Given the description of an element on the screen output the (x, y) to click on. 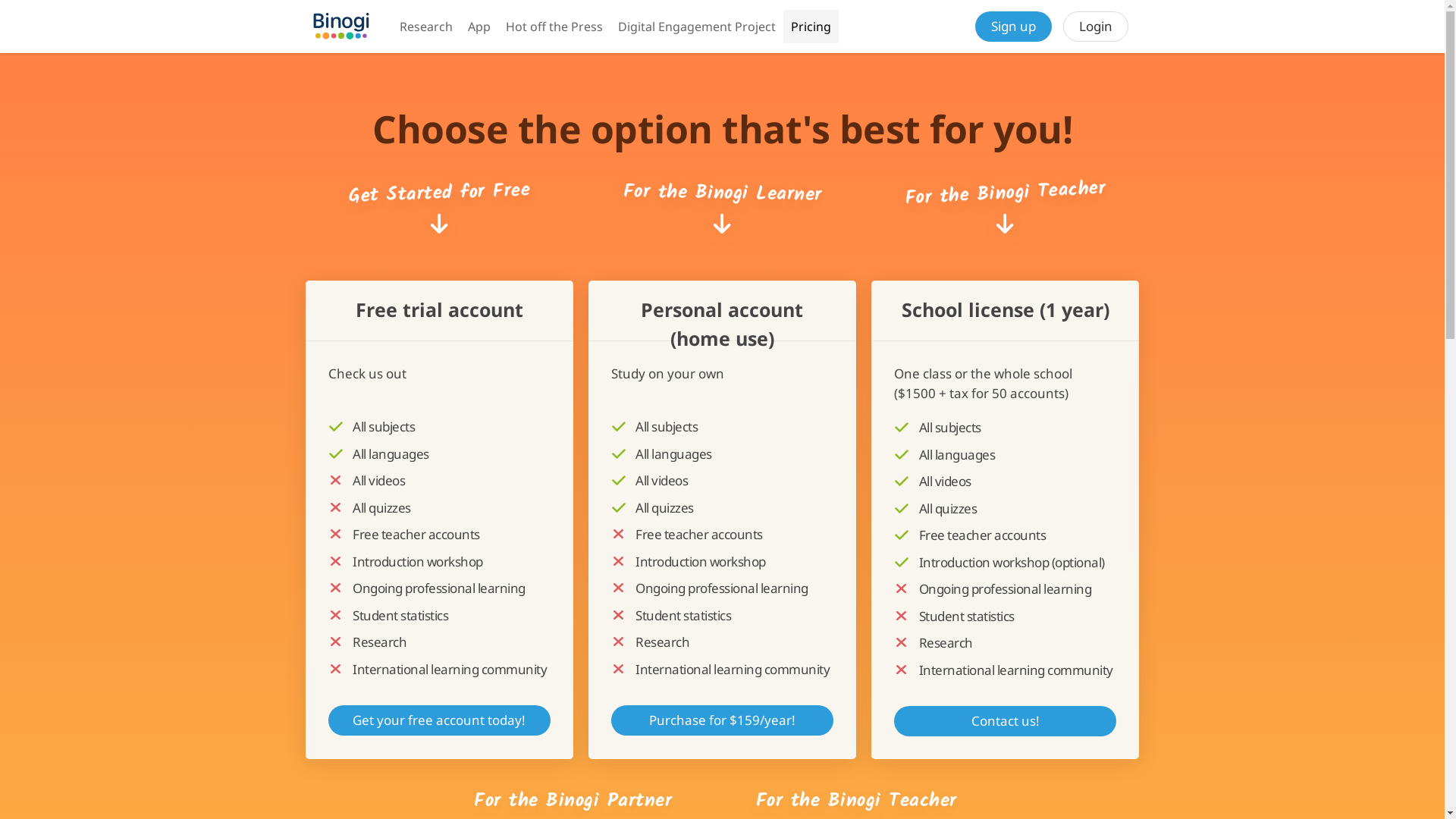
Contact us! Element type: text (1005, 721)
App Element type: text (478, 26)
Digital Engagement Project Element type: text (695, 26)
Get your free account today! Element type: text (438, 720)
Purchase for $159/year! Element type: text (722, 720)
Login Element type: text (1095, 26)
Pricing Element type: text (809, 26)
Sign up Element type: text (1013, 26)
Research Element type: text (425, 26)
Hot off the Press Element type: text (553, 26)
